Given the description of an element on the screen output the (x, y) to click on. 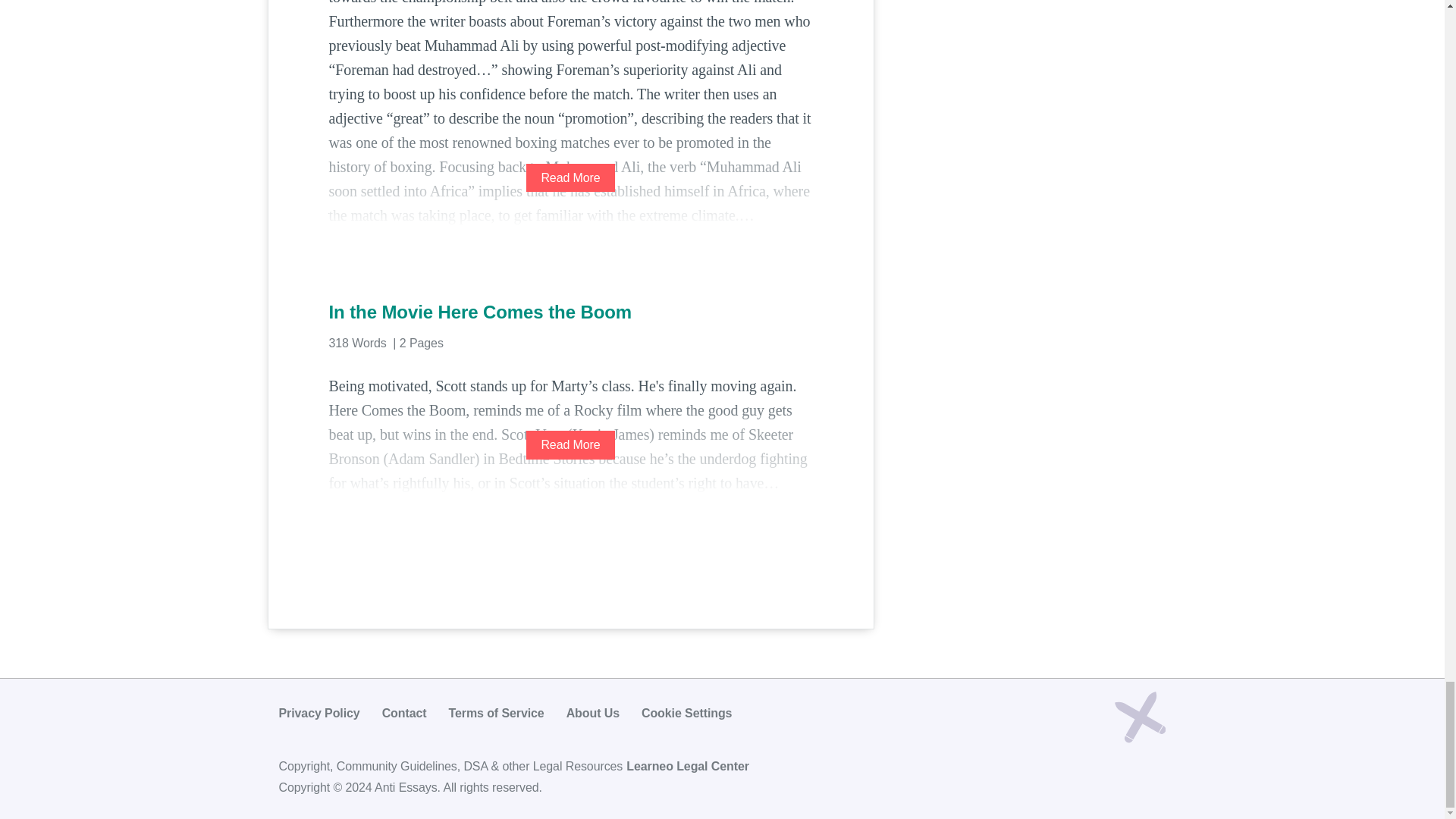
Privacy Policy (319, 712)
Contact (403, 712)
Read More (569, 177)
In the Movie Here Comes the Boom (570, 312)
Read More (569, 444)
